Given the description of an element on the screen output the (x, y) to click on. 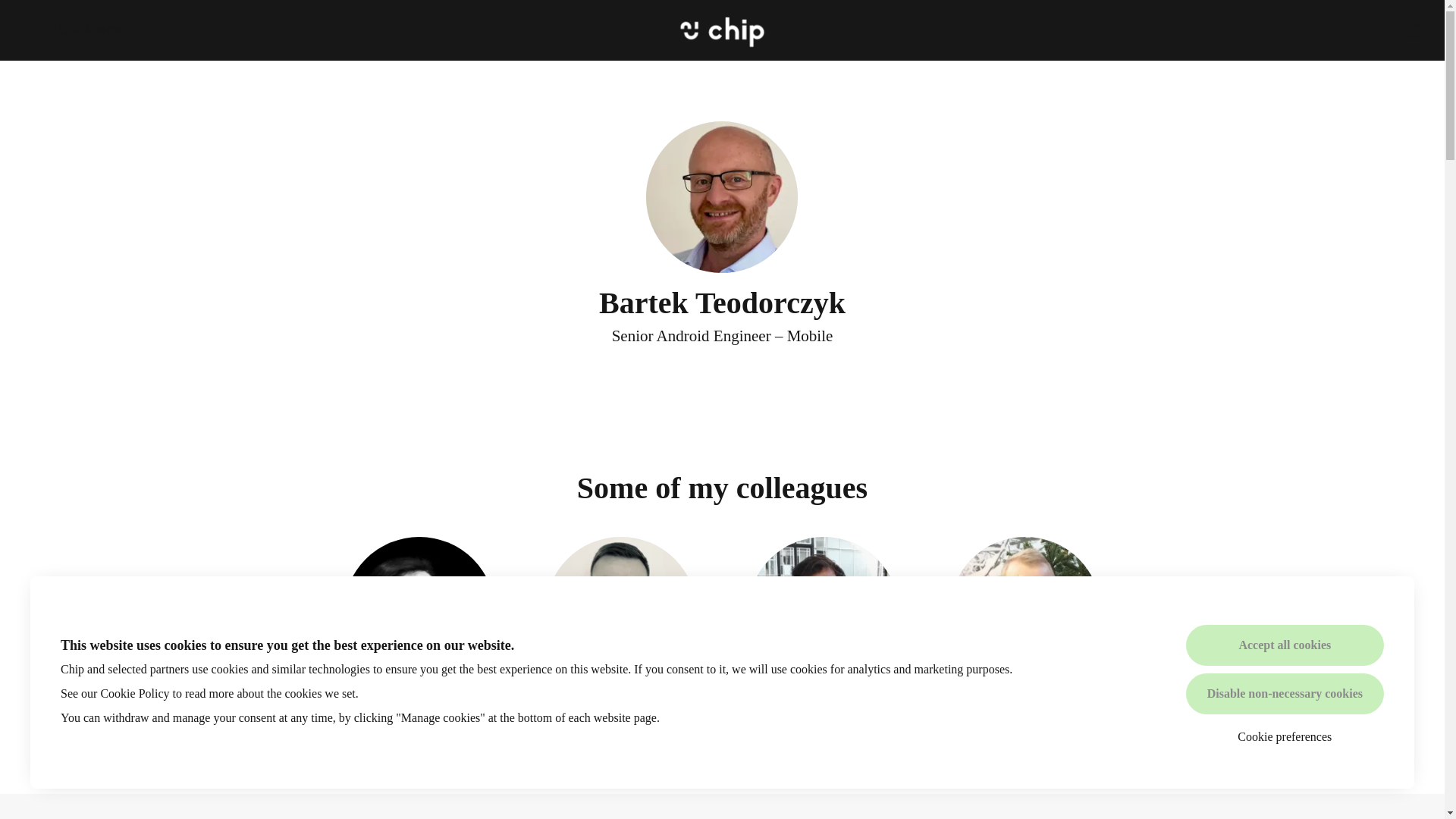
Disable non-necessary cookies (822, 635)
Cookie Policy (1024, 635)
CAREER MENU (1285, 693)
Career menu (134, 693)
Share page (73, 30)
Accept all cookies (73, 30)
Cookie preferences (620, 635)
Mobile (418, 635)
